Given the description of an element on the screen output the (x, y) to click on. 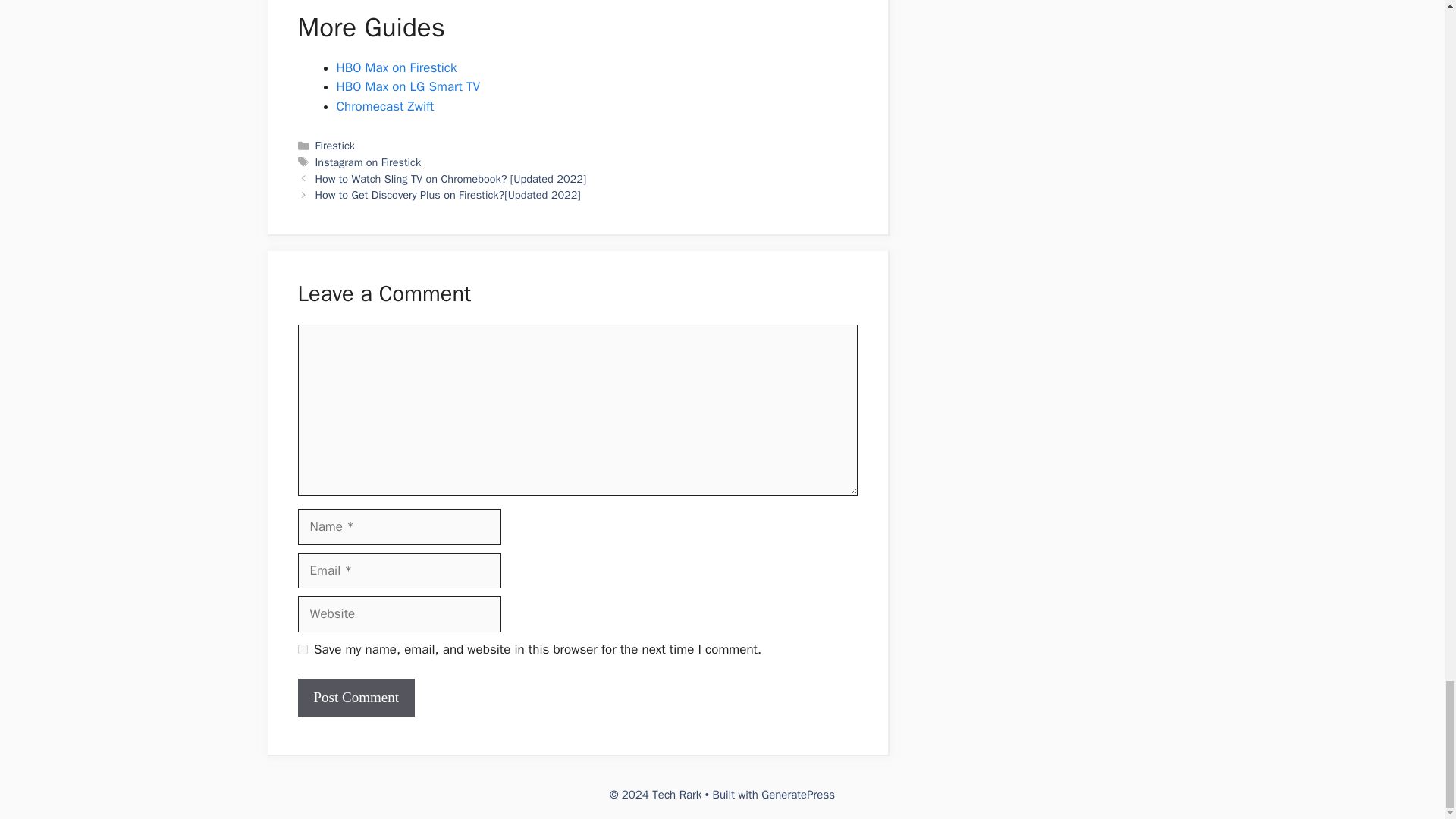
yes (302, 649)
Post Comment (355, 697)
HBO Max on Firestick (396, 67)
Chromecast Zwift (384, 106)
Instagram on Firestick (368, 161)
HBO Max on LG Smart TV (408, 86)
GeneratePress (797, 794)
Post Comment (355, 697)
Firestick (335, 145)
